Given the description of an element on the screen output the (x, y) to click on. 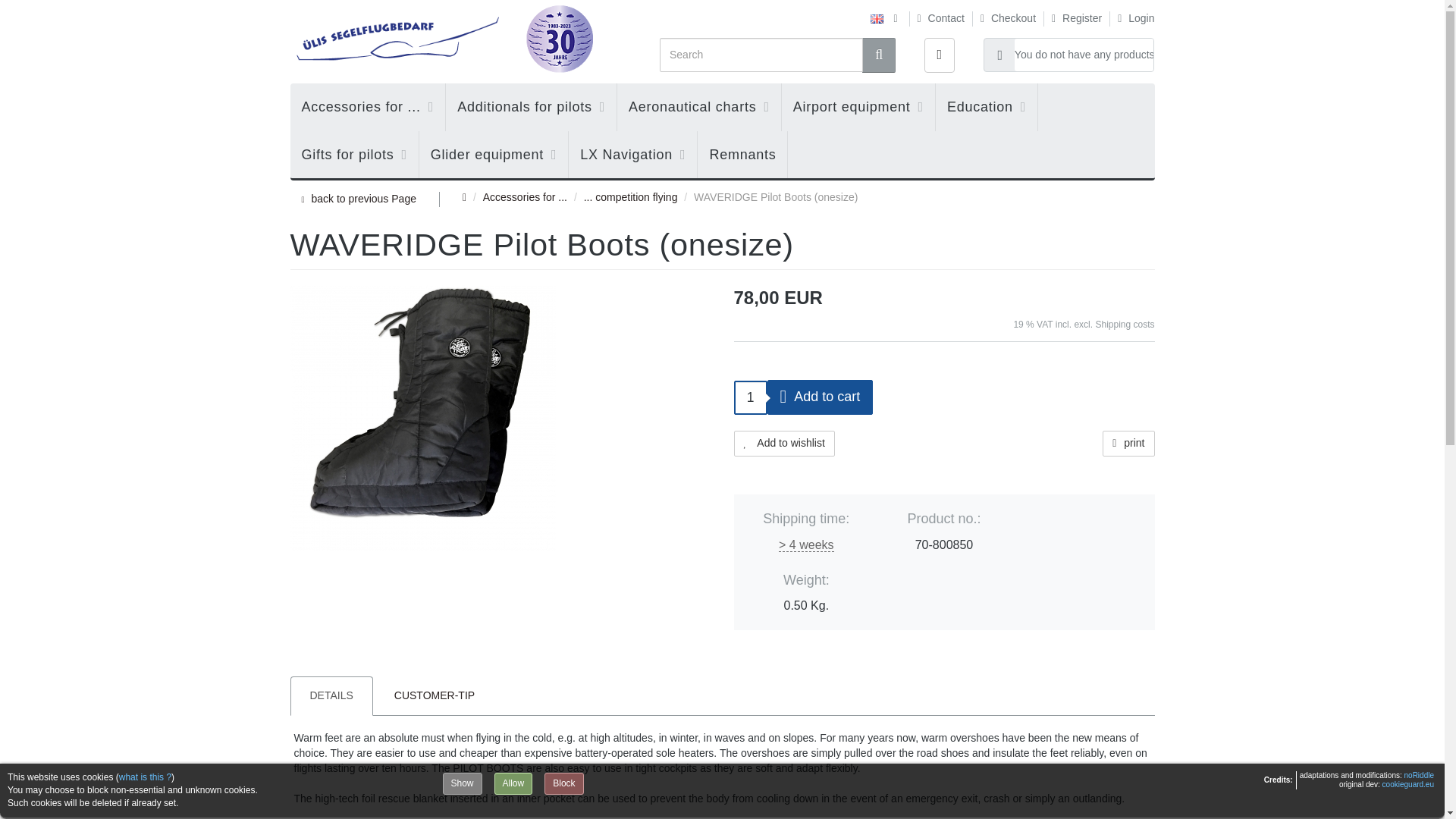
what is this ? (145, 777)
Shopping cart (1069, 54)
Contact (935, 18)
Login (1131, 18)
noRiddle (1419, 775)
Show (461, 783)
Checkout (1003, 18)
Contact (935, 18)
Register (1072, 18)
Additionals for pilots (530, 107)
